Given the description of an element on the screen output the (x, y) to click on. 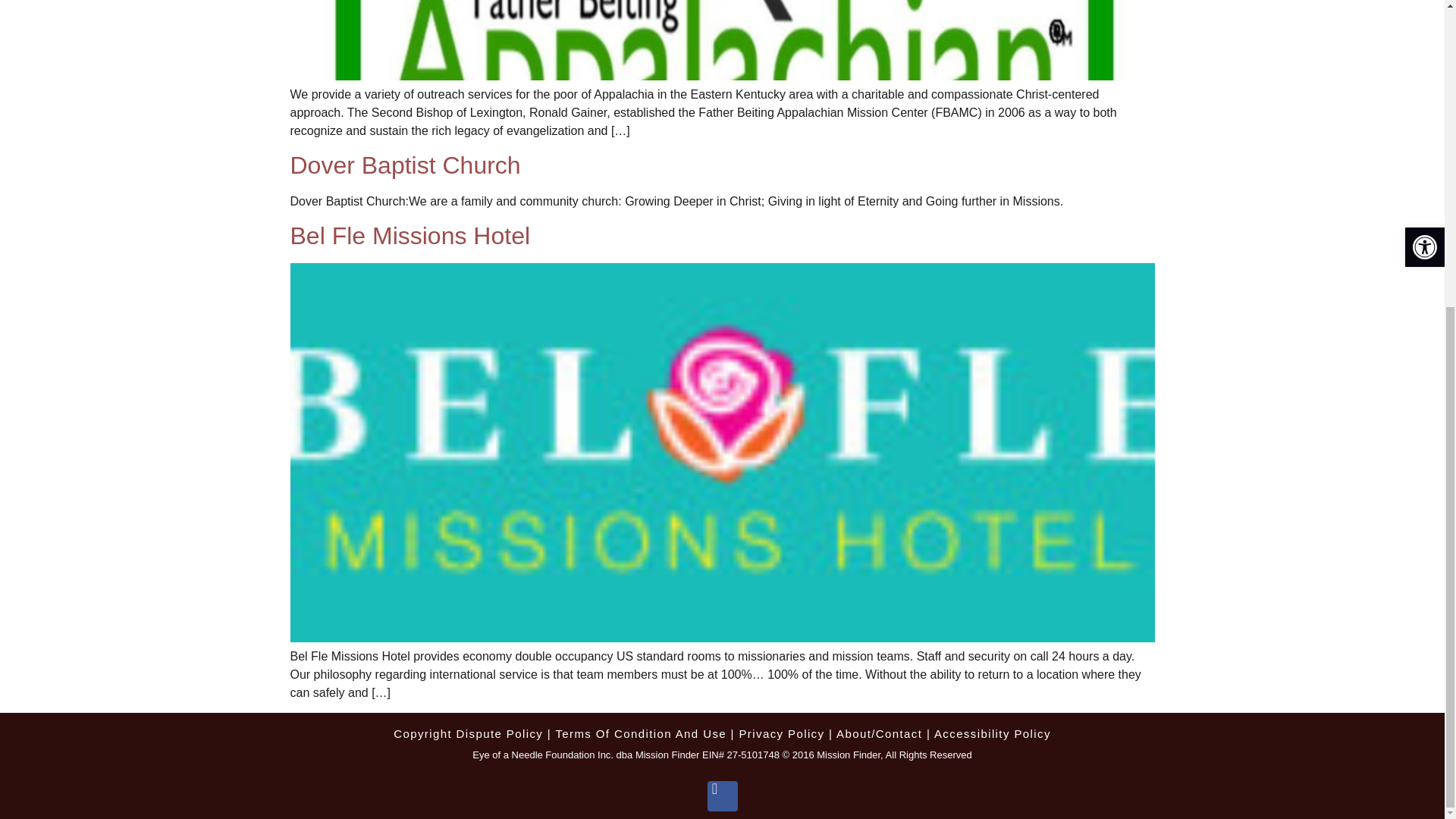
Copyright Dispute Policy (468, 733)
Privacy Policy (781, 733)
Bel Fle Missions Hotel (409, 235)
Dover Baptist Church (404, 165)
Terms Of Condition And Use (640, 733)
